Given the description of an element on the screen output the (x, y) to click on. 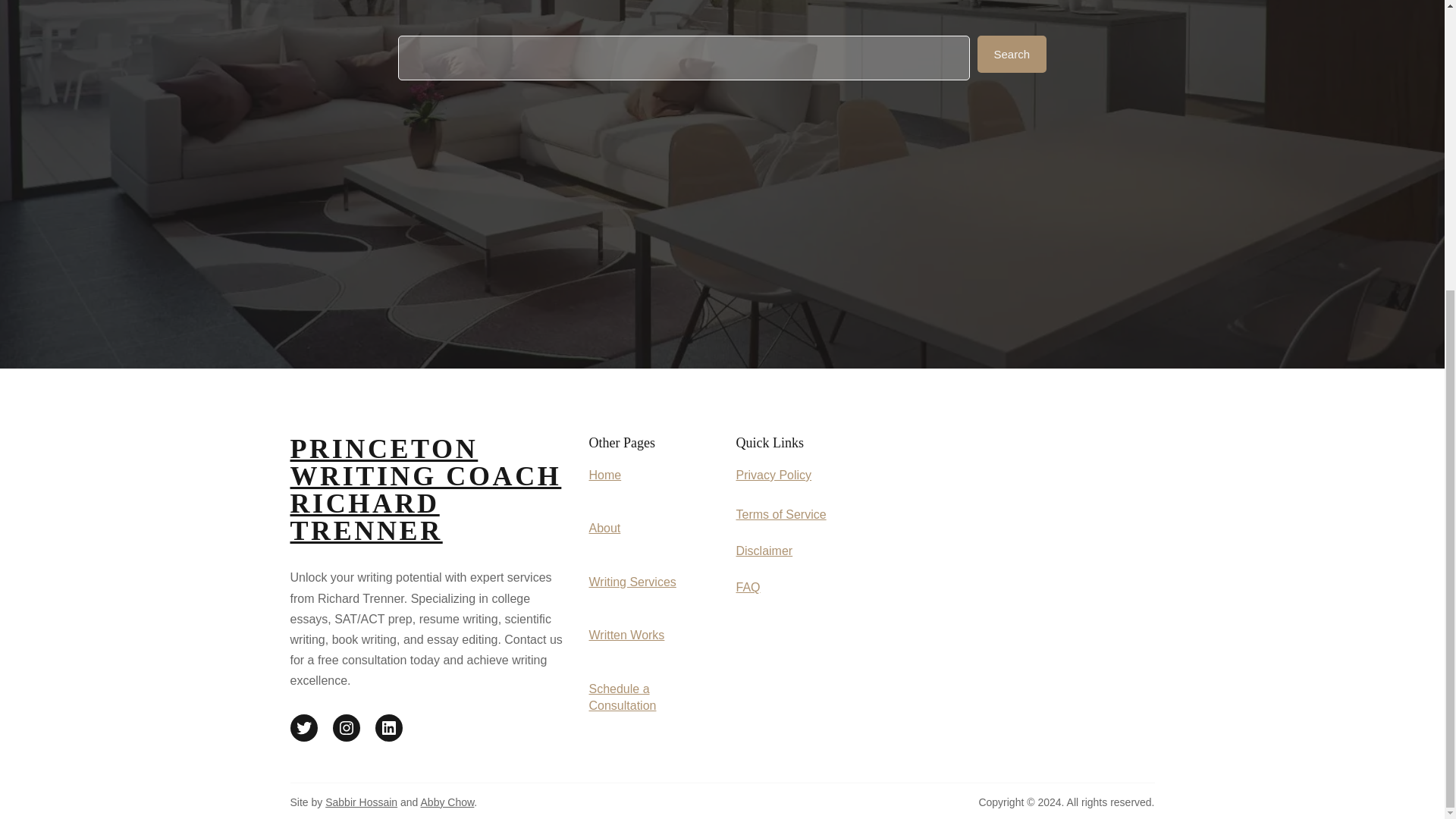
Search (1011, 54)
About (604, 527)
LinkedIn (387, 728)
Sabbir Hossain (360, 802)
Home (604, 474)
Disclaimer (763, 550)
Terms of Service (780, 513)
Privacy Policy (772, 474)
Written Works (625, 634)
Consultation (622, 705)
